Given the description of an element on the screen output the (x, y) to click on. 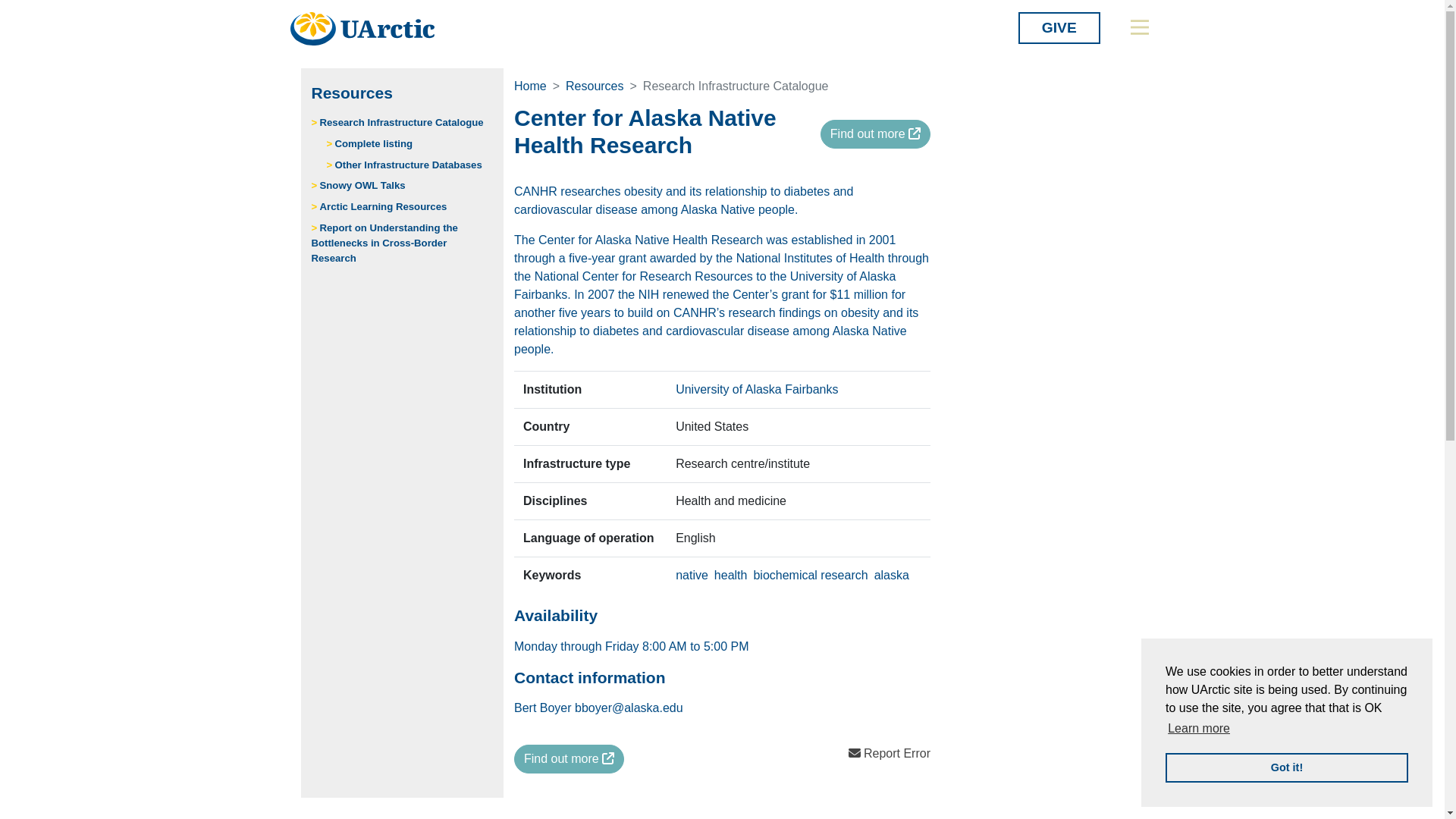
Report Error (889, 753)
Center for Alaska Native Health Research (875, 133)
GIVE (1058, 28)
Got it! (1286, 767)
Learn more (1198, 728)
Center for Alaska Native Health Research (568, 758)
